Given the description of an element on the screen output the (x, y) to click on. 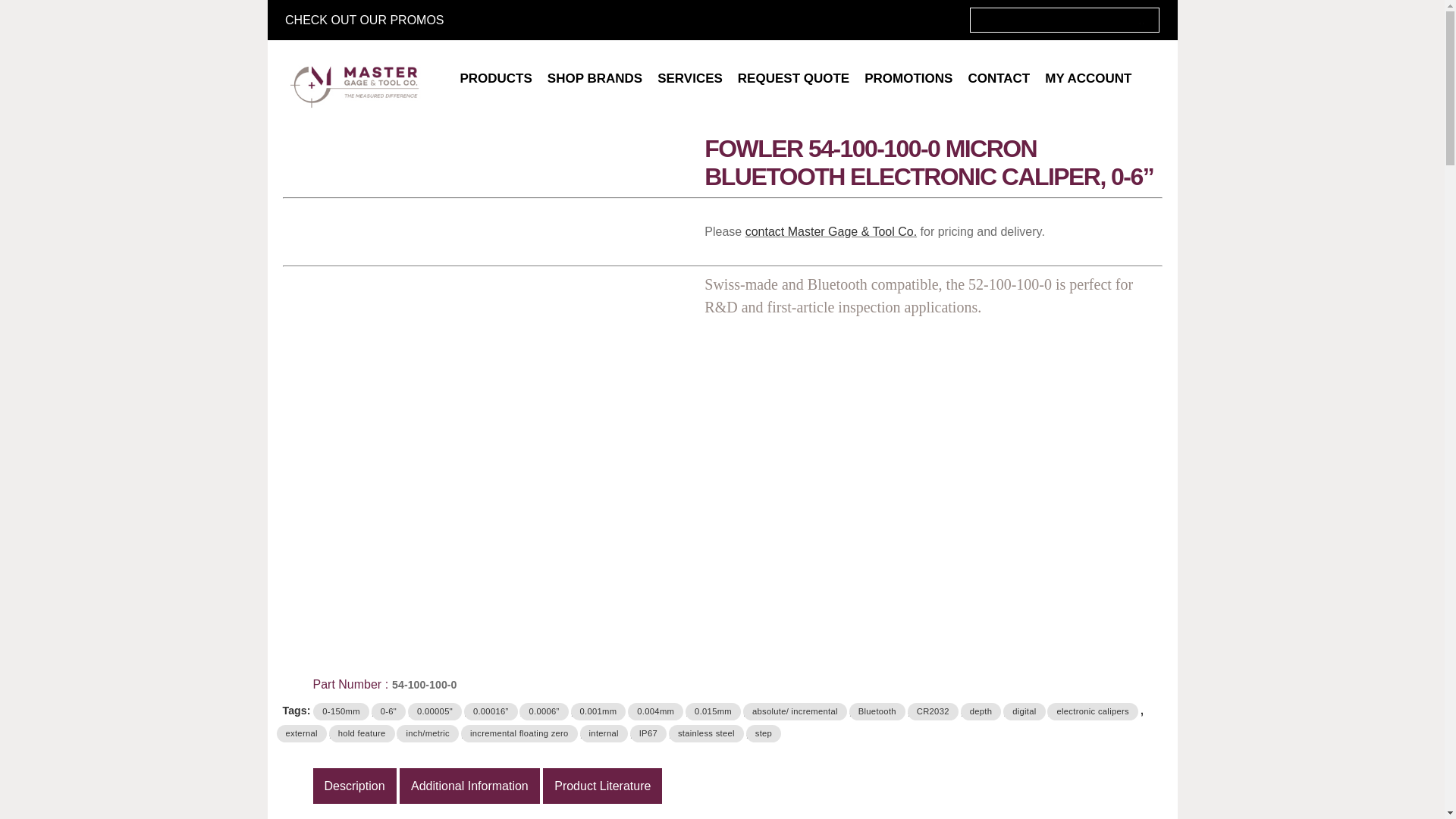
0.001mm (598, 711)
REQUEST QUOTE (793, 79)
PRODUCTS (494, 79)
0-150mm (340, 711)
.. (1141, 19)
0.004mm (654, 711)
SHOP BRANDS (594, 79)
SERVICES (689, 79)
0.015mm (713, 711)
0-6" (388, 711)
